Given the description of an element on the screen output the (x, y) to click on. 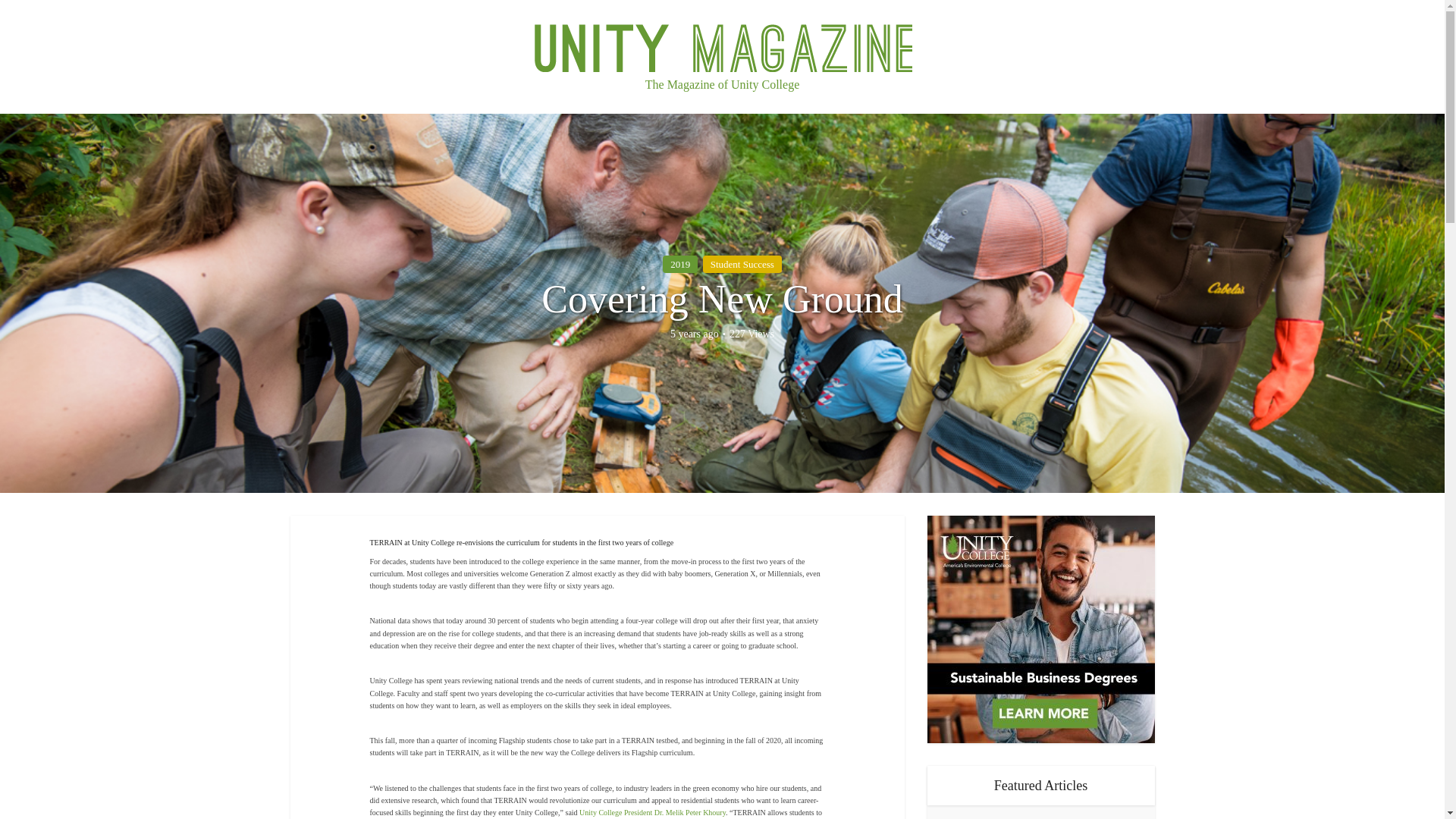
Student Success (742, 263)
2019 (679, 263)
Unity Magazine (721, 41)
Unity College President Dr. Melik Peter Khoury (652, 812)
